Given the description of an element on the screen output the (x, y) to click on. 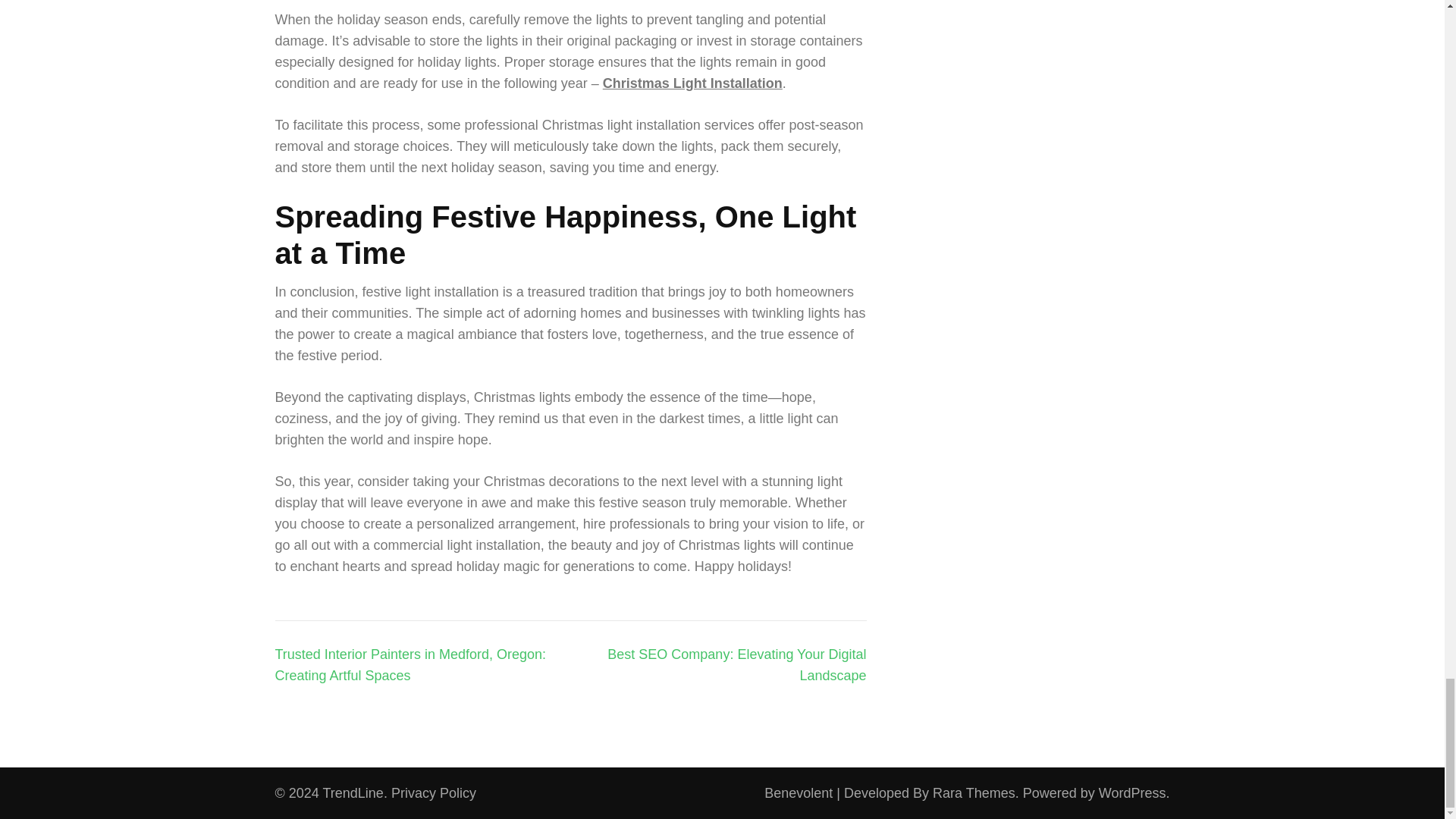
Best SEO Company: Elevating Your Digital Landscape (736, 665)
Christmas Light Installation (692, 83)
